Given the description of an element on the screen output the (x, y) to click on. 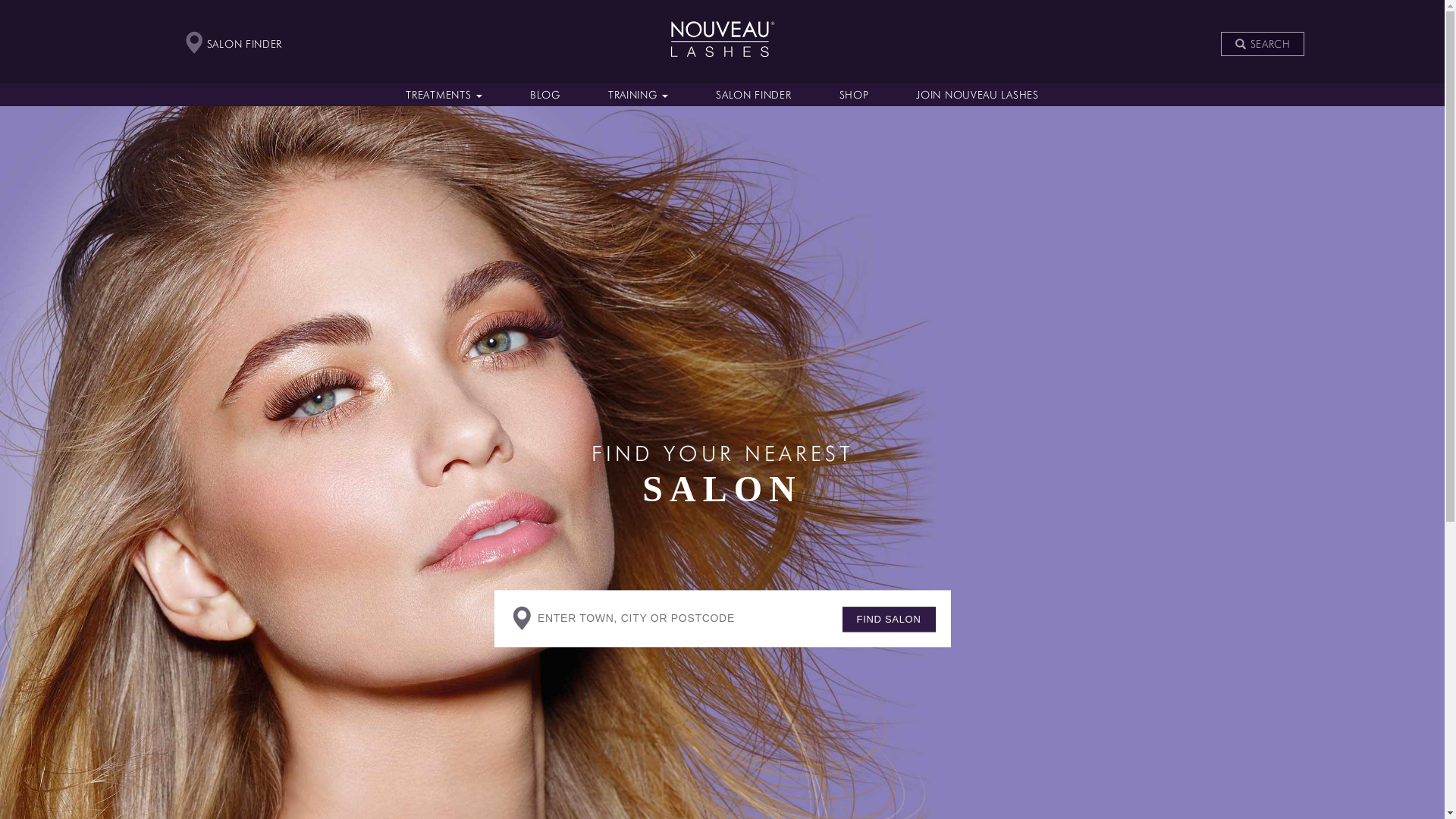
BLOG Element type: text (545, 94)
TREATMENTS Element type: text (444, 94)
JOIN NOUVEAU LASHES Element type: text (977, 94)
SHOP Element type: text (853, 94)
FIND SALON Element type: text (888, 619)
SALON FINDER Element type: text (232, 44)
TRAINING Element type: text (637, 94)
SALON FINDER Element type: text (753, 94)
GO Element type: text (1262, 70)
